Given the description of an element on the screen output the (x, y) to click on. 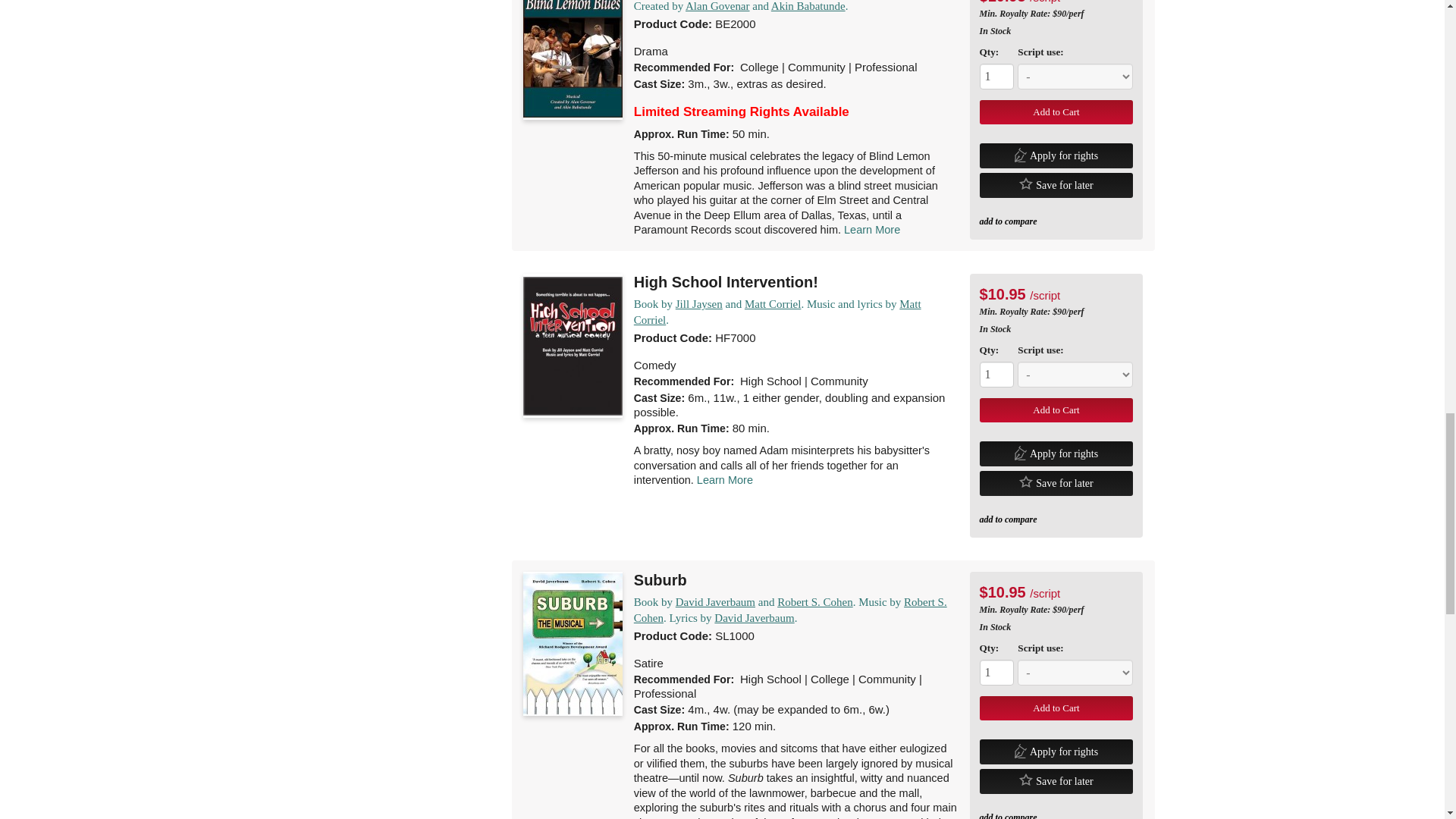
1 (996, 76)
1 (996, 374)
1 (996, 672)
